Given the description of an element on the screen output the (x, y) to click on. 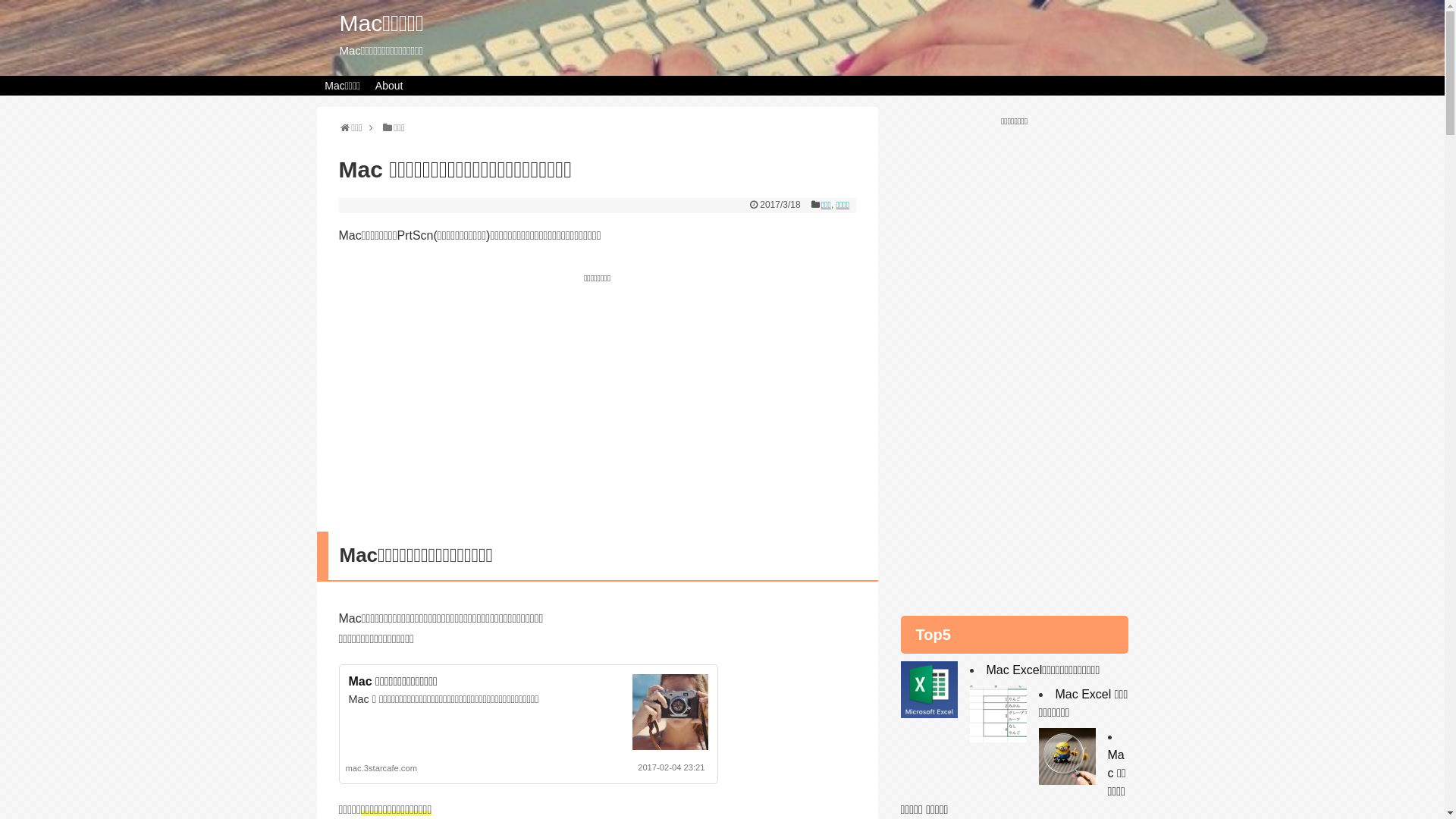
About Element type: text (388, 85)
Advertisement Element type: hover (596, 394)
Advertisement Element type: hover (1014, 353)
